Given the description of an element on the screen output the (x, y) to click on. 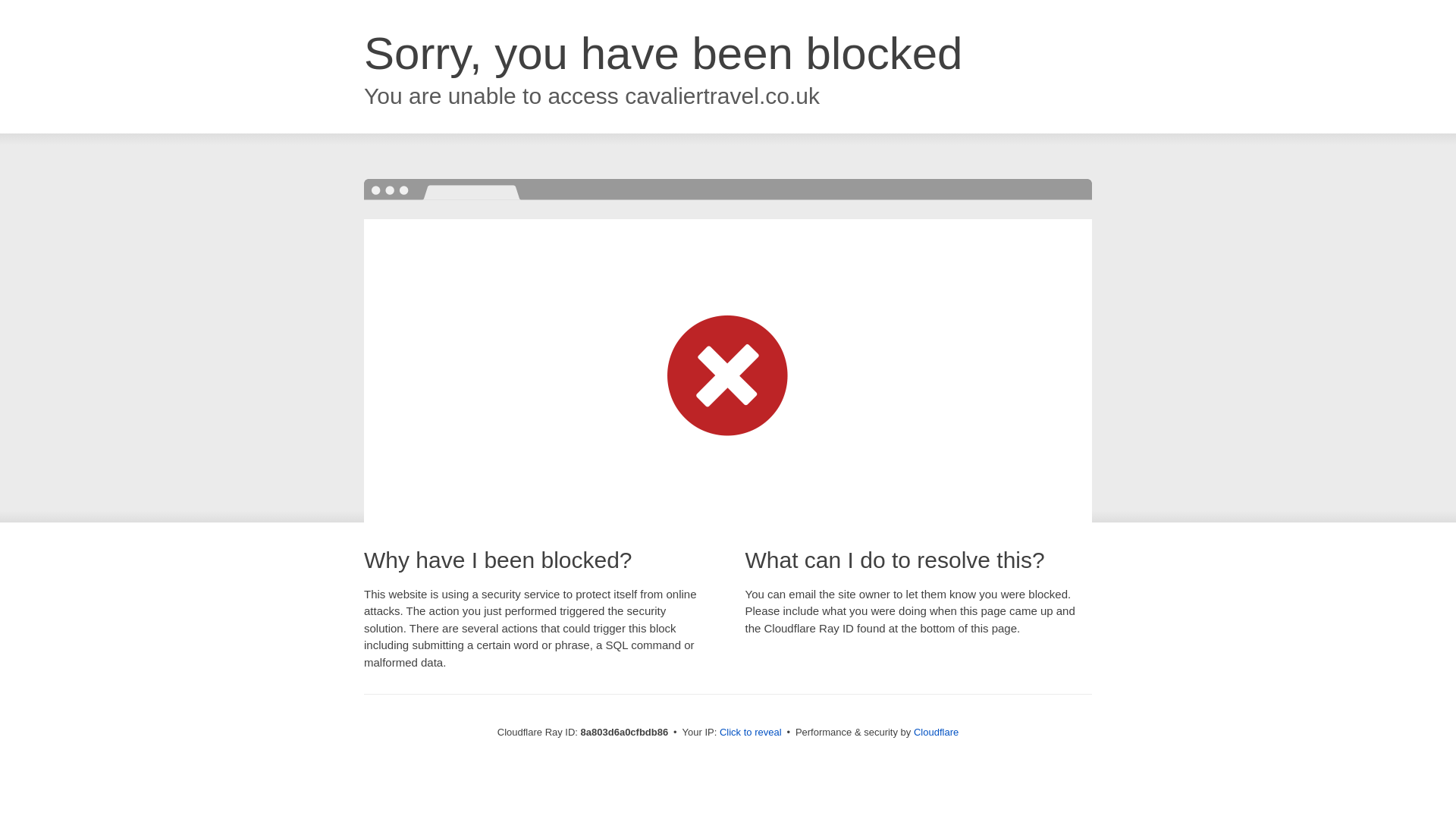
Click to reveal (750, 732)
Cloudflare (936, 731)
